Given the description of an element on the screen output the (x, y) to click on. 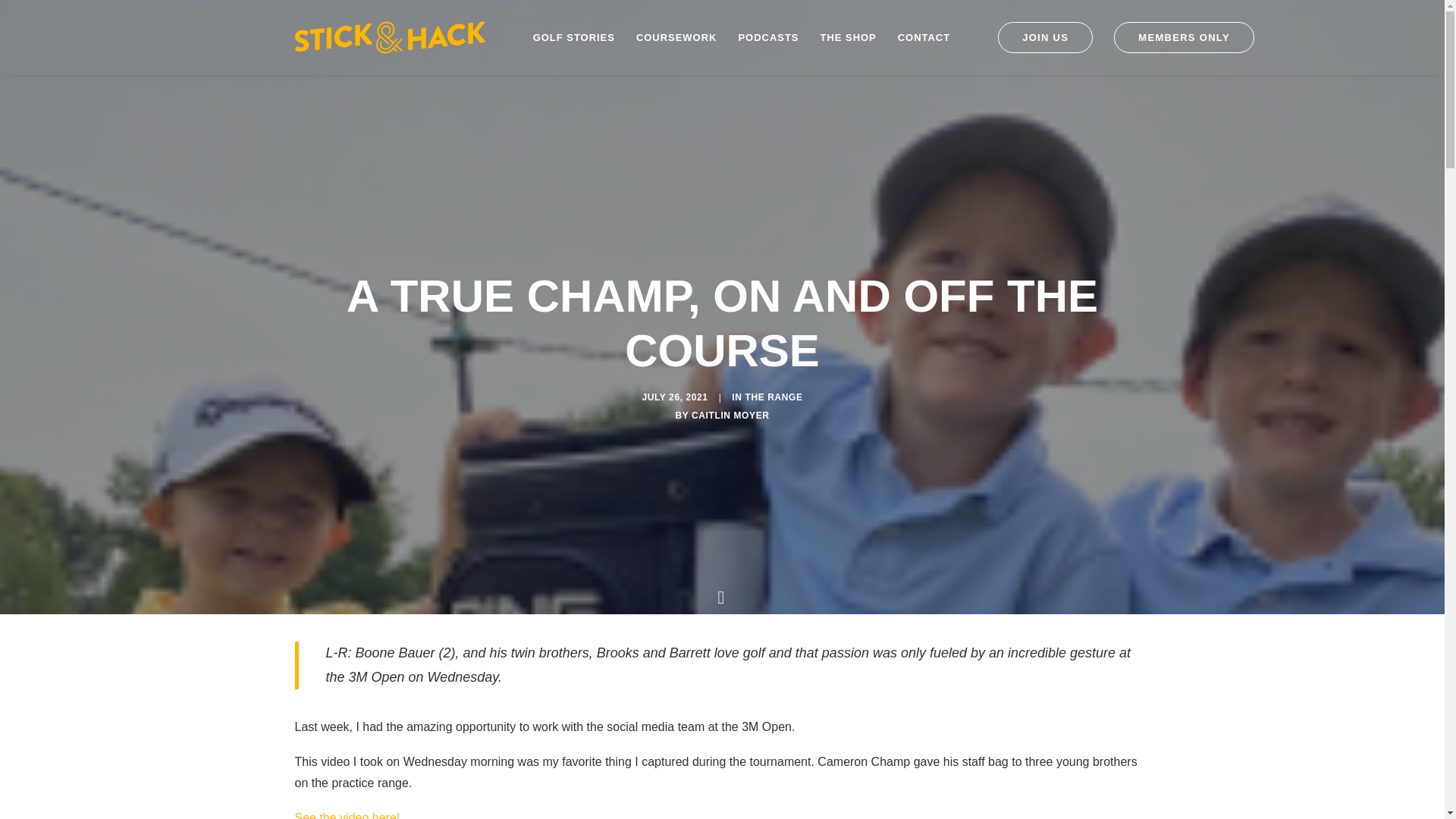
GOLF STORIES (574, 37)
JOIN US (1050, 37)
THE RANGE (773, 396)
See the video here! (346, 815)
MEMBERS ONLY (1178, 37)
CONTACT (923, 37)
PODCASTS (767, 37)
Golf Stories (574, 37)
Podcasts (767, 37)
Coursework (677, 37)
